Given the description of an element on the screen output the (x, y) to click on. 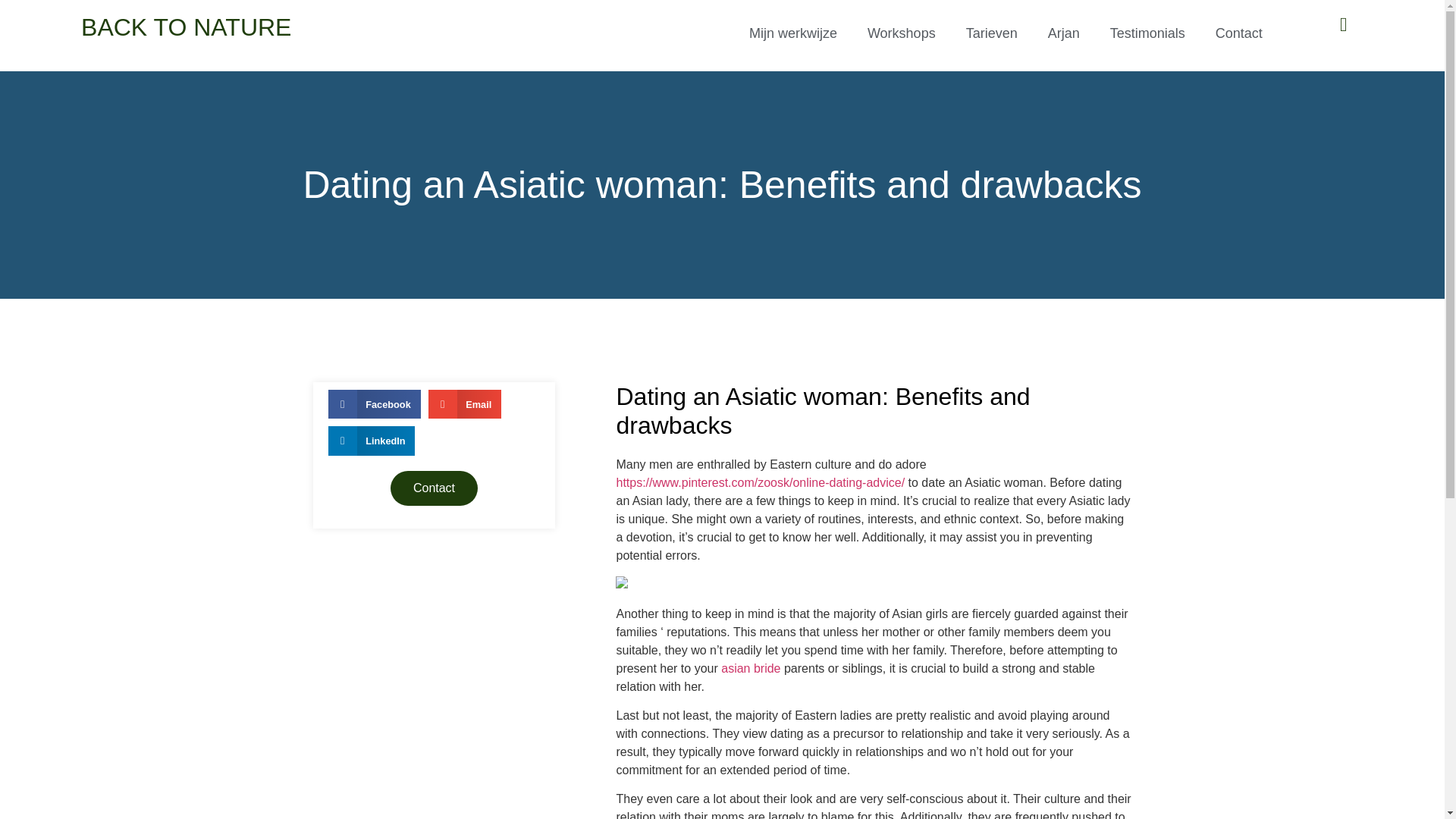
Testimonials (1147, 33)
Mijn werkwijze (793, 33)
Contact (1238, 33)
Contact (433, 487)
Tarieven (991, 33)
asian bride (750, 667)
Workshops (901, 33)
BACK TO NATURE (186, 26)
